Given the description of an element on the screen output the (x, y) to click on. 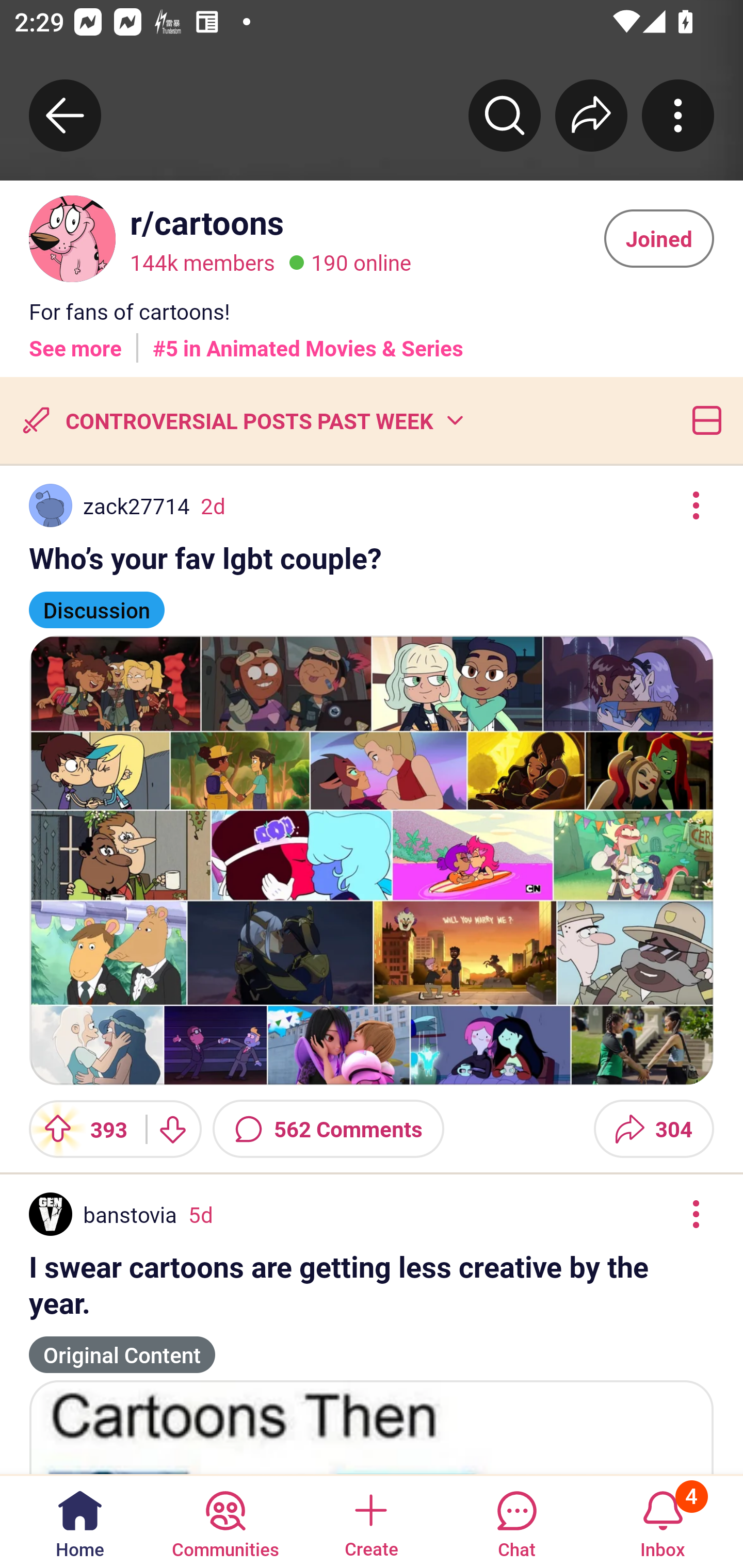
Back (64, 115)
Search r/﻿cartoons (504, 115)
Share r/﻿cartoons (591, 115)
More community actions (677, 115)
Controversial posts CONTROVERSIAL POSTS PAST WEEK (241, 420)
Card (703, 420)
Discussion (96, 601)
Original Content (121, 1345)
Home (80, 1520)
Communities (225, 1520)
Create a post Create (370, 1520)
Chat (516, 1520)
Inbox, has 4 notifications 4 Inbox (662, 1520)
